Given the description of an element on the screen output the (x, y) to click on. 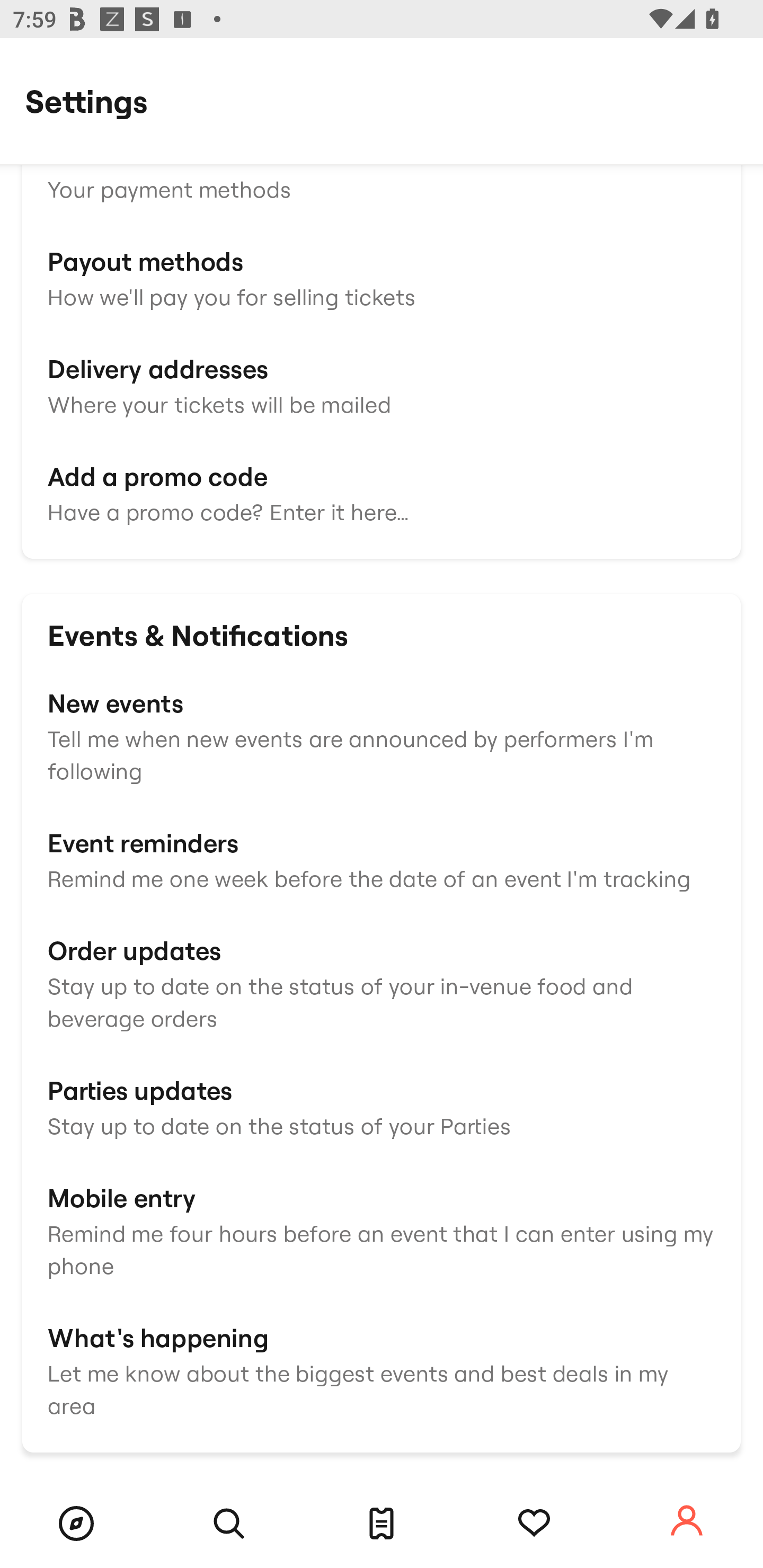
Credit cards Your payment methods (381, 170)
Add a promo code Have a promo code? Enter it here… (381, 492)
Browse (76, 1523)
Search (228, 1523)
Tickets (381, 1523)
Tracking (533, 1523)
Account (686, 1521)
